Given the description of an element on the screen output the (x, y) to click on. 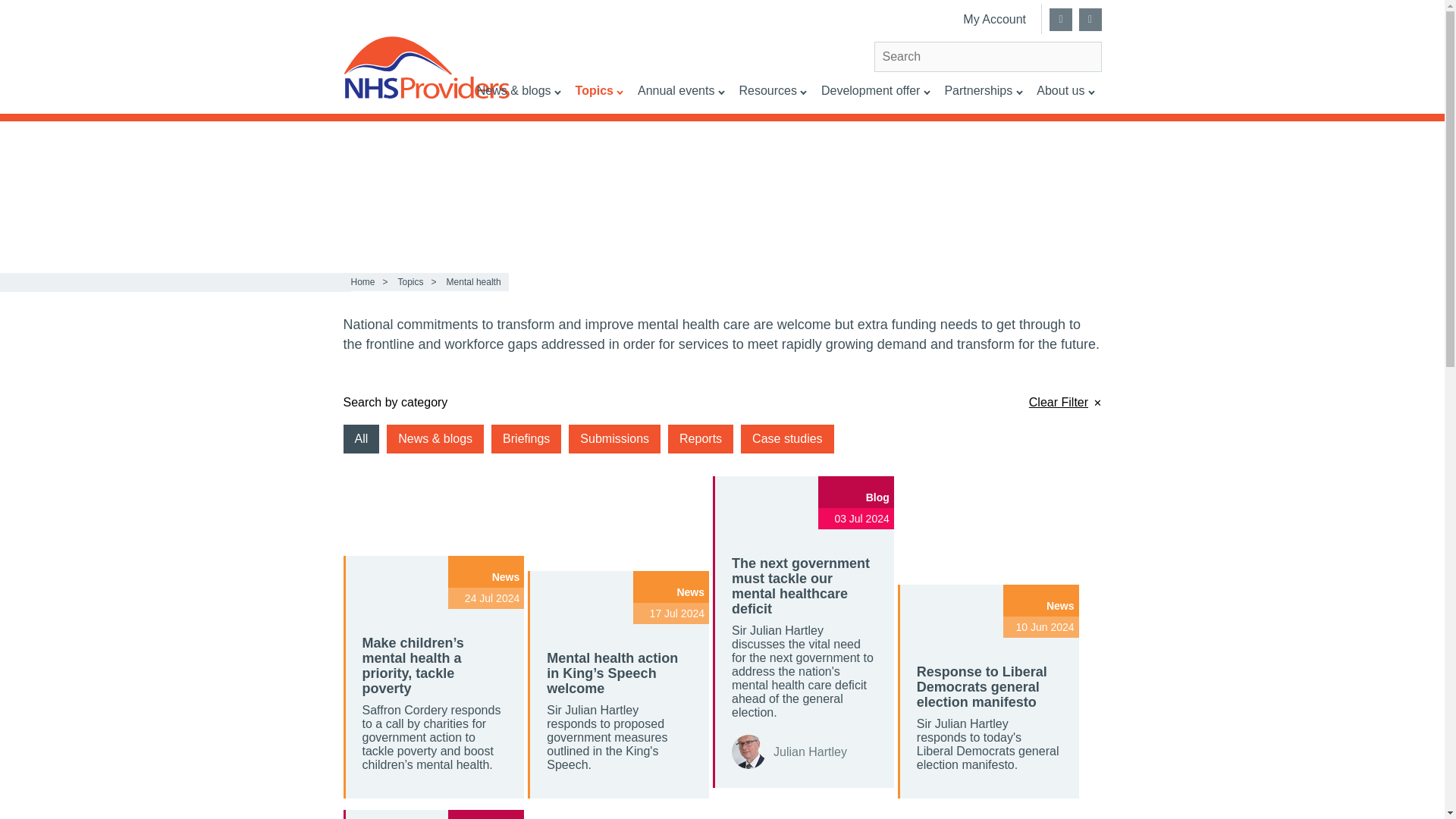
LinkedIn (1089, 19)
Twitter (1060, 19)
Topics (598, 98)
